Given the description of an element on the screen output the (x, y) to click on. 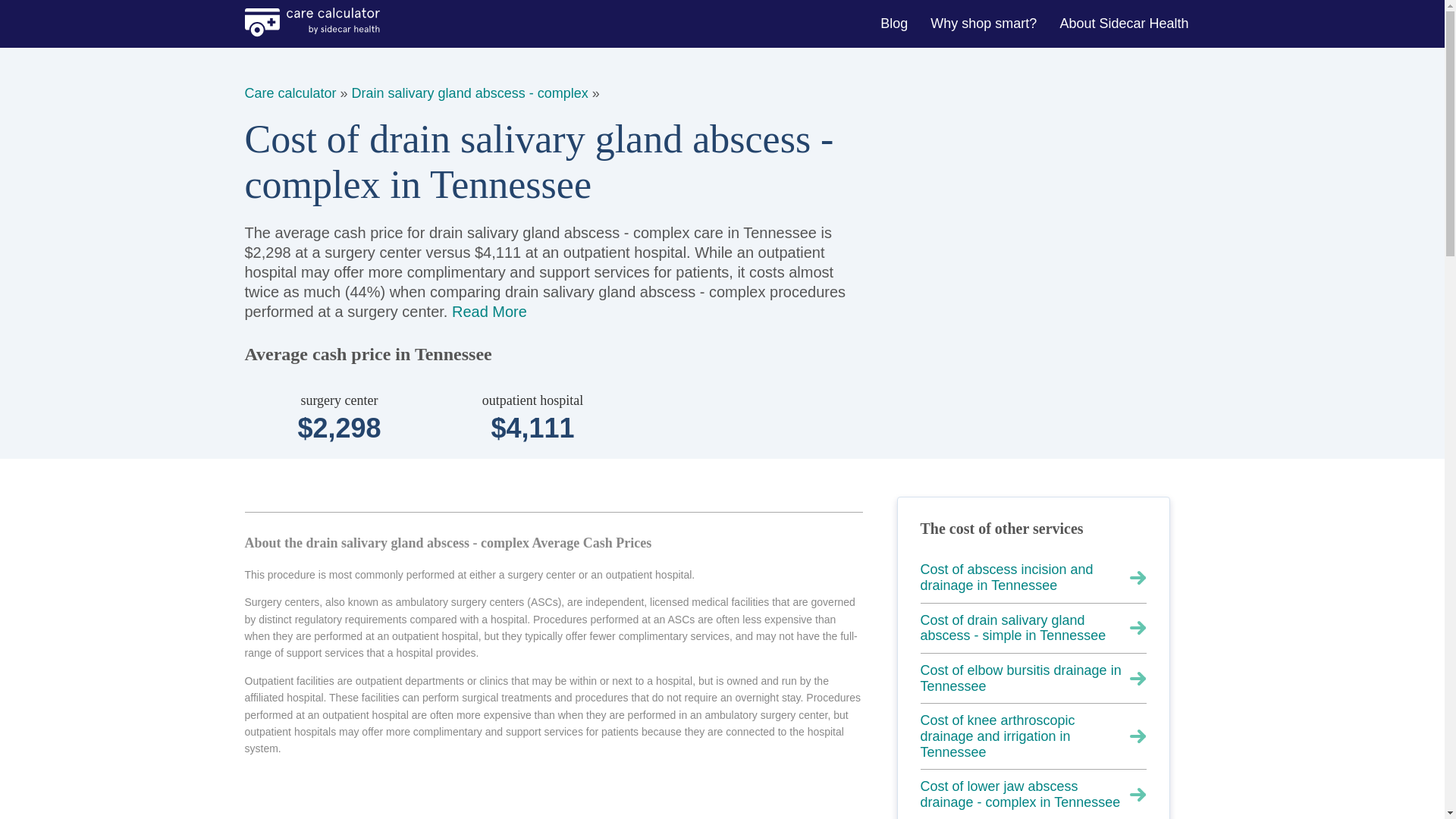
Care calculator (290, 92)
Cost of abscess incision and drainage in Tennessee (1033, 577)
Blog (895, 23)
Drain salivary gland abscess - complex (470, 92)
Cost of elbow bursitis drainage in Tennessee (1033, 678)
Read More (489, 311)
About Sidecar Health (1125, 23)
Cost of lower jaw abscess drainage - complex in Tennessee (1033, 794)
Cost of drain salivary gland abscess - simple in Tennessee (1033, 628)
Why shop smart? (985, 23)
